Given the description of an element on the screen output the (x, y) to click on. 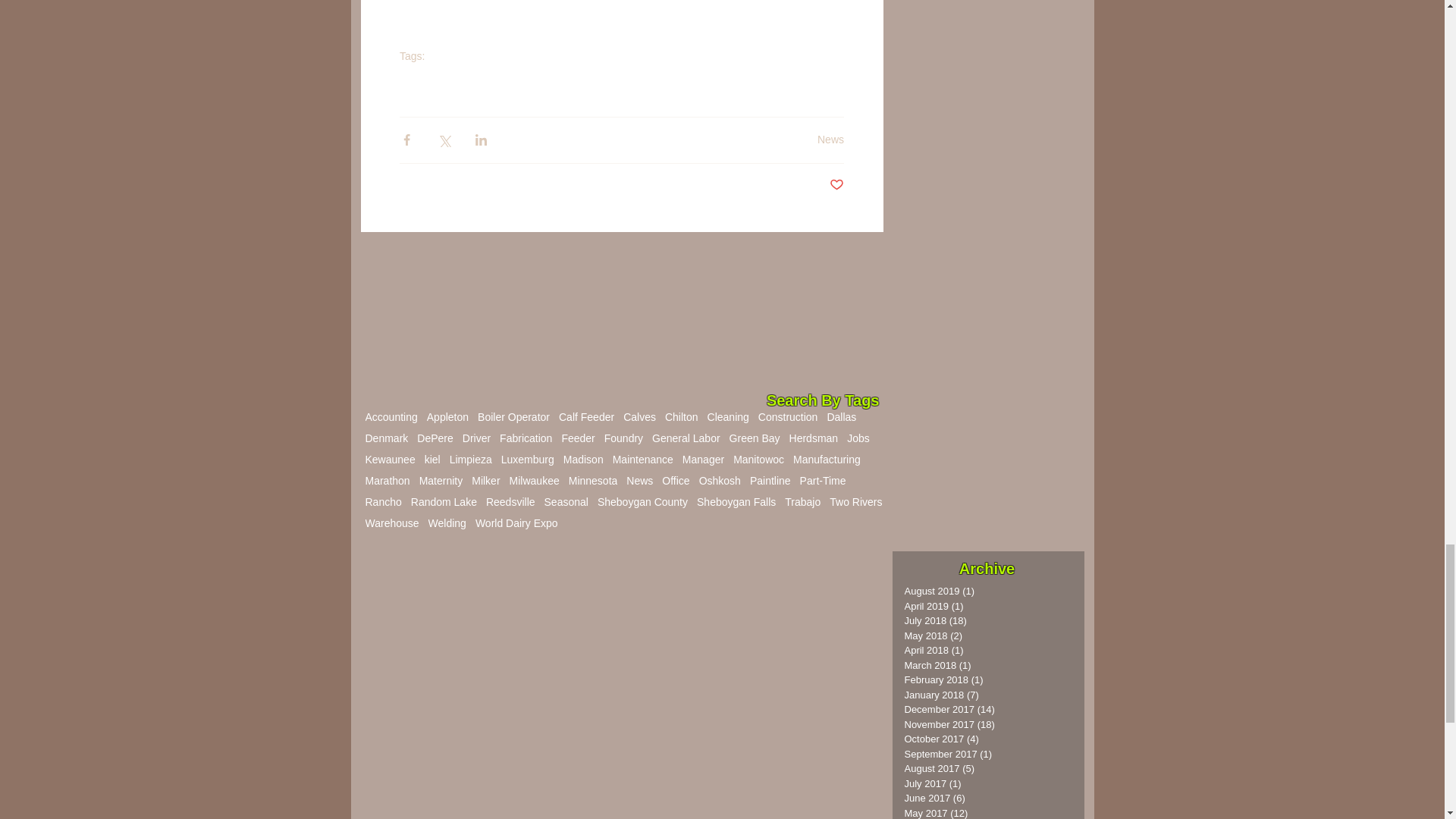
News (411, 85)
Manitowoc (758, 459)
Fabrication (525, 438)
Feeder (577, 438)
Maintenance (642, 459)
Calf Feeder (586, 417)
Jobs (858, 438)
Dallas (841, 417)
Denmark (387, 438)
Foundry (623, 438)
